Given the description of an element on the screen output the (x, y) to click on. 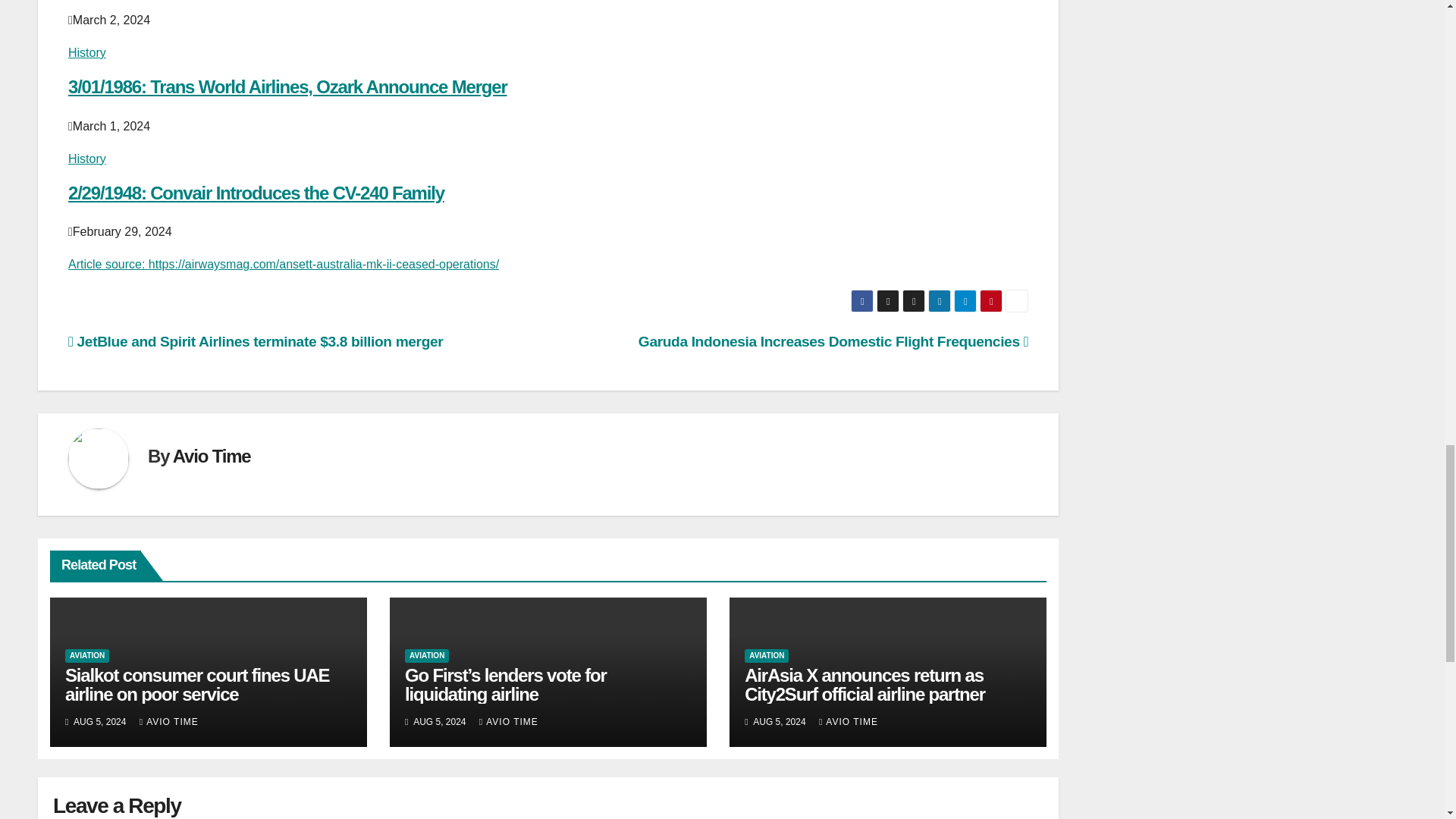
History (87, 158)
History (87, 51)
AVIATION (87, 655)
Avio Time (211, 455)
Garuda Indonesia Increases Domestic Flight Frequencies (833, 341)
